Given the description of an element on the screen output the (x, y) to click on. 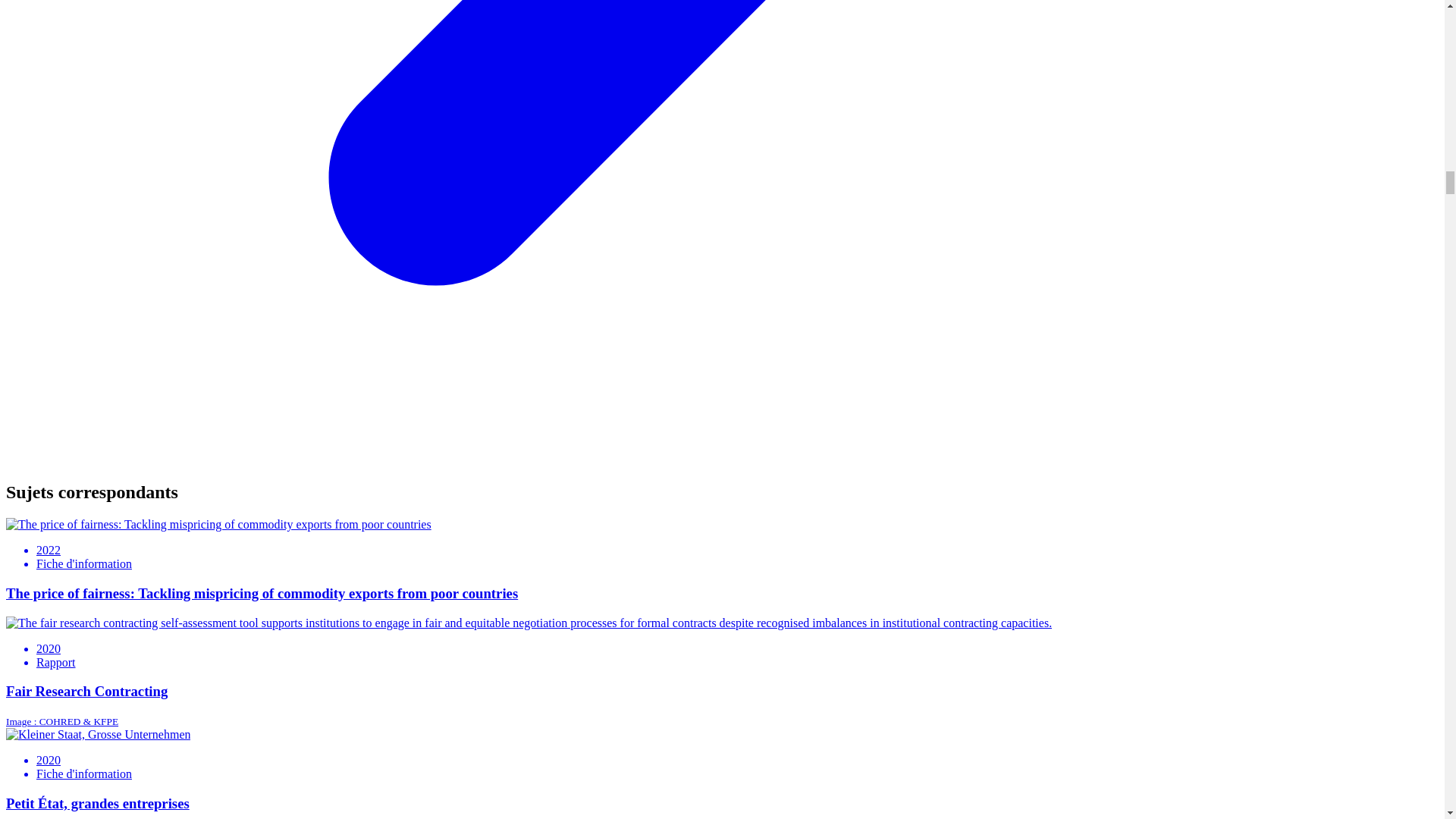
Kleiner Staat, Grosse Unternehmen (97, 735)
